Given the description of an element on the screen output the (x, y) to click on. 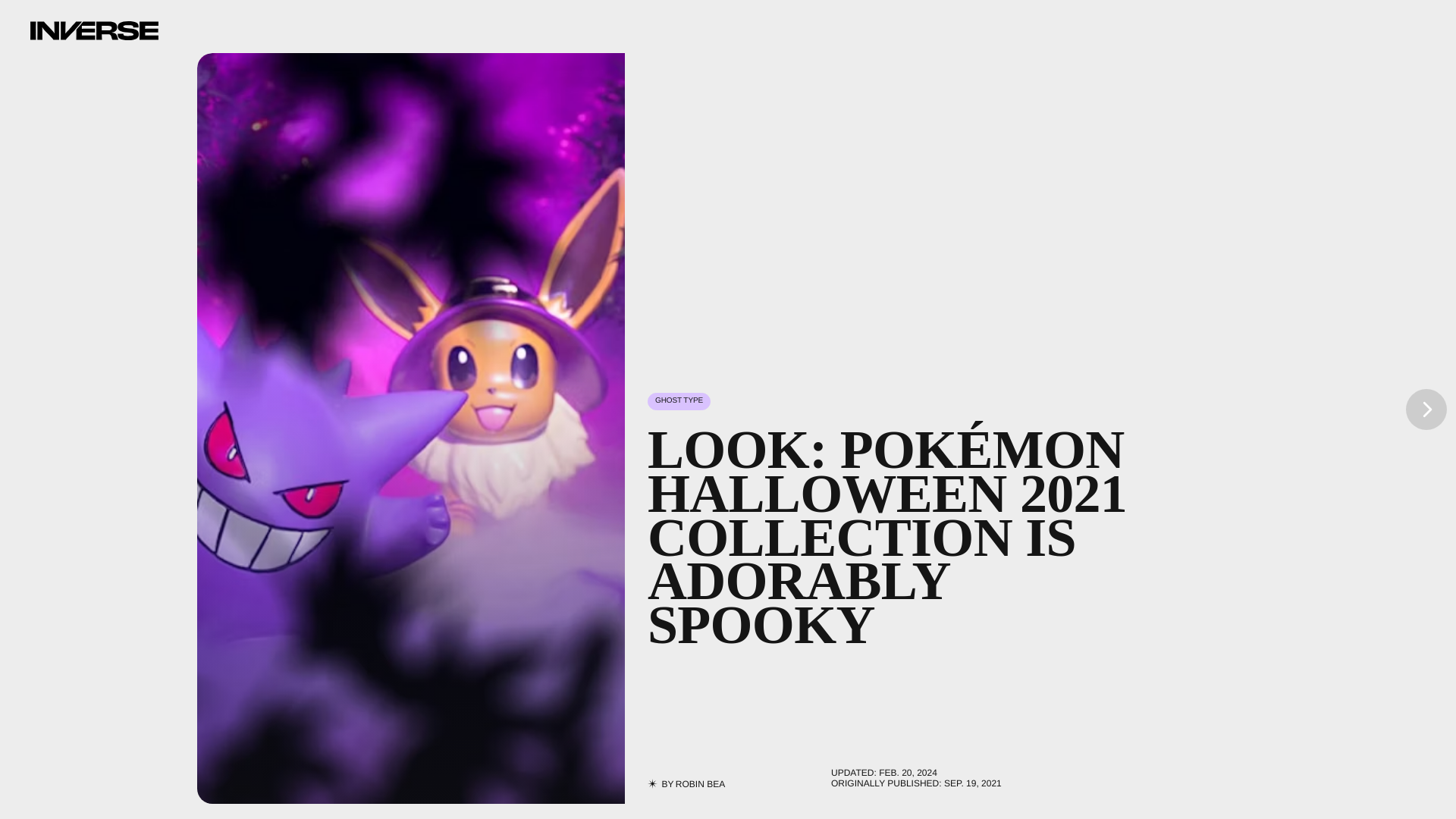
ROBIN BEA (700, 783)
